Given the description of an element on the screen output the (x, y) to click on. 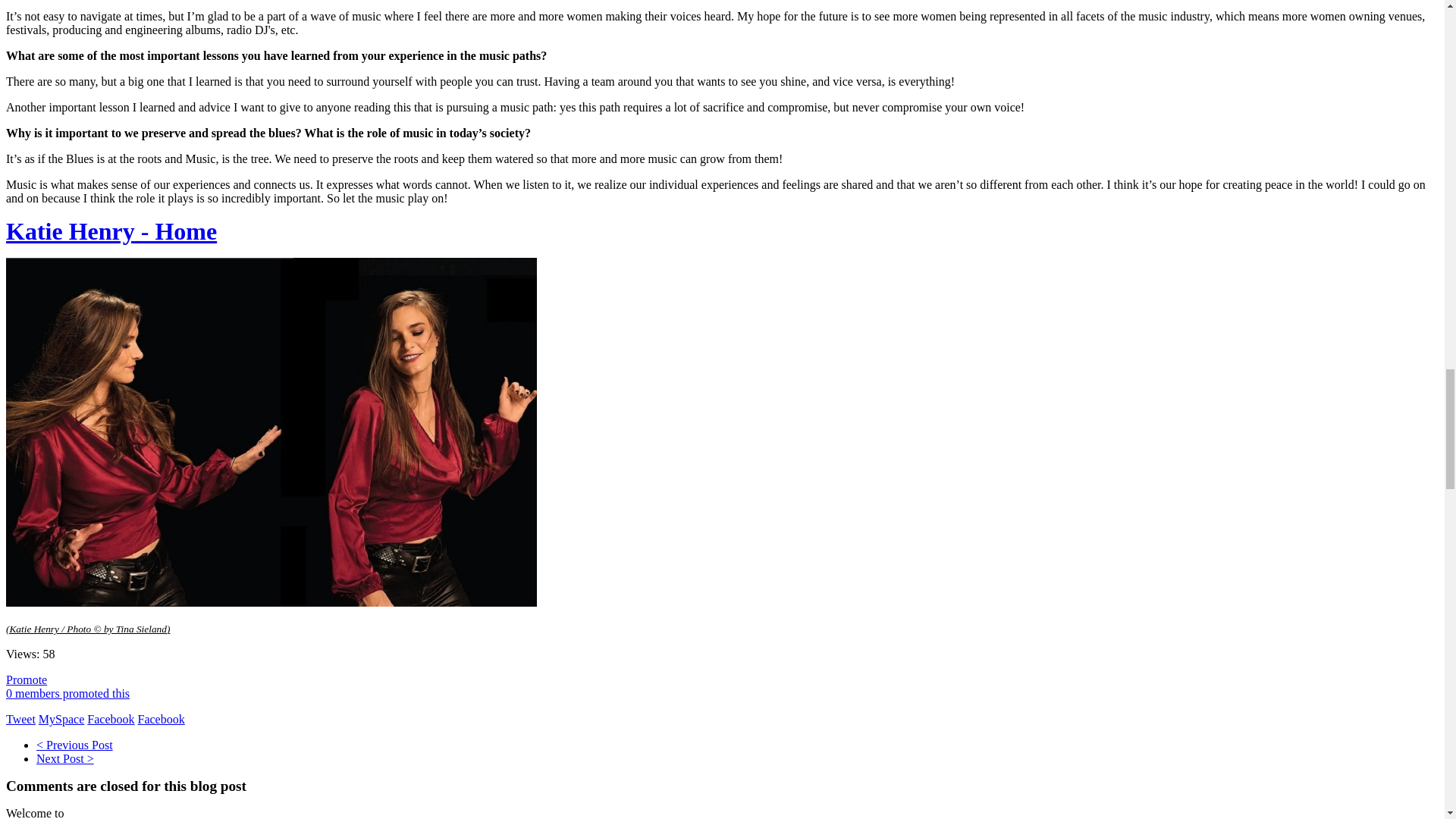
Katie Henry - Home (110, 230)
Facebook (110, 718)
Tweet (19, 718)
Promote (25, 679)
Facebook (161, 718)
0 members promoted this (67, 693)
MySpace (61, 718)
